Given the description of an element on the screen output the (x, y) to click on. 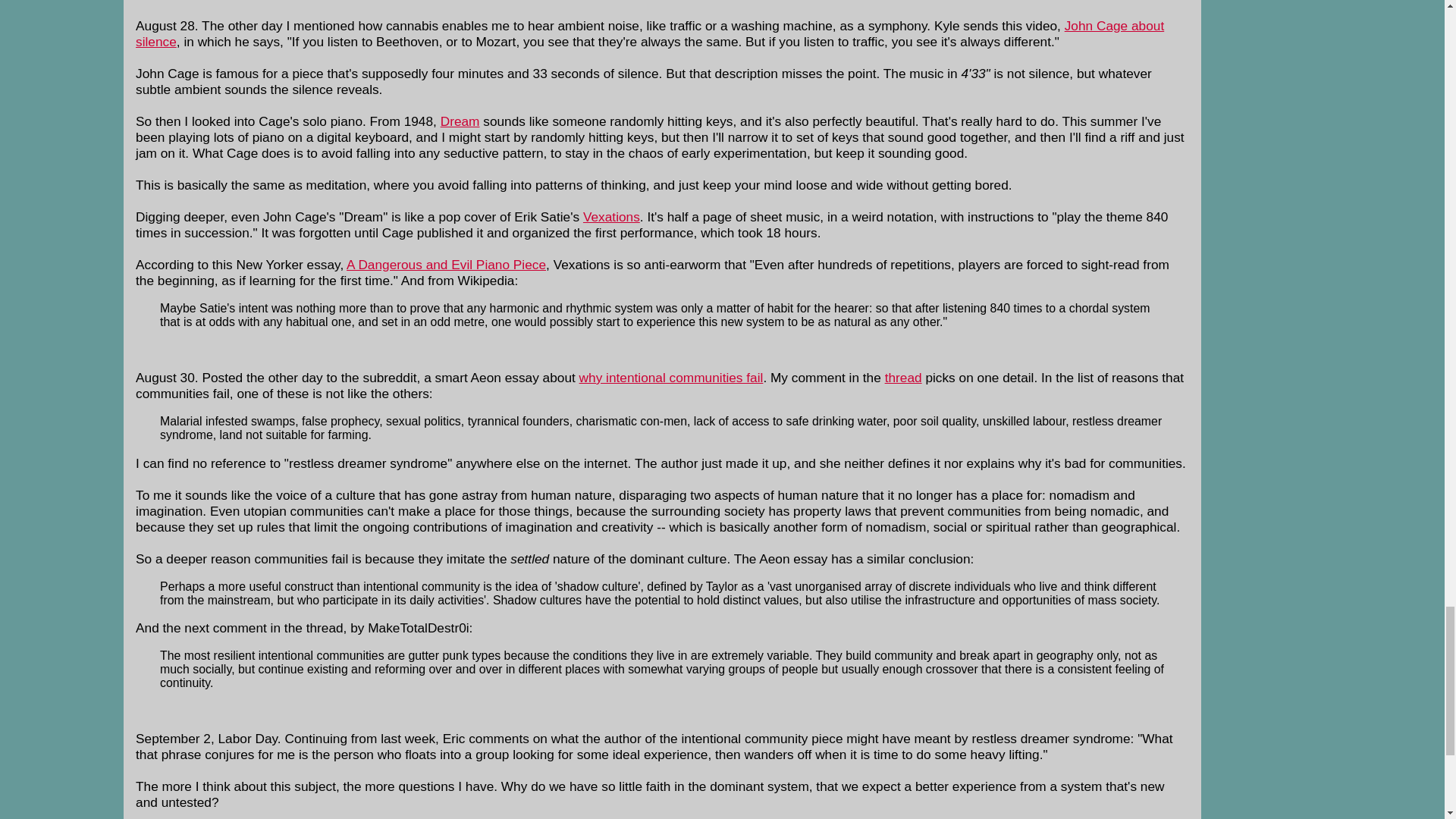
A Dangerous and Evil Piano Piece (446, 264)
John Cage about silence (649, 33)
why intentional communities fail (670, 377)
Dream (460, 120)
Vexations (611, 216)
thread (903, 377)
